Given the description of an element on the screen output the (x, y) to click on. 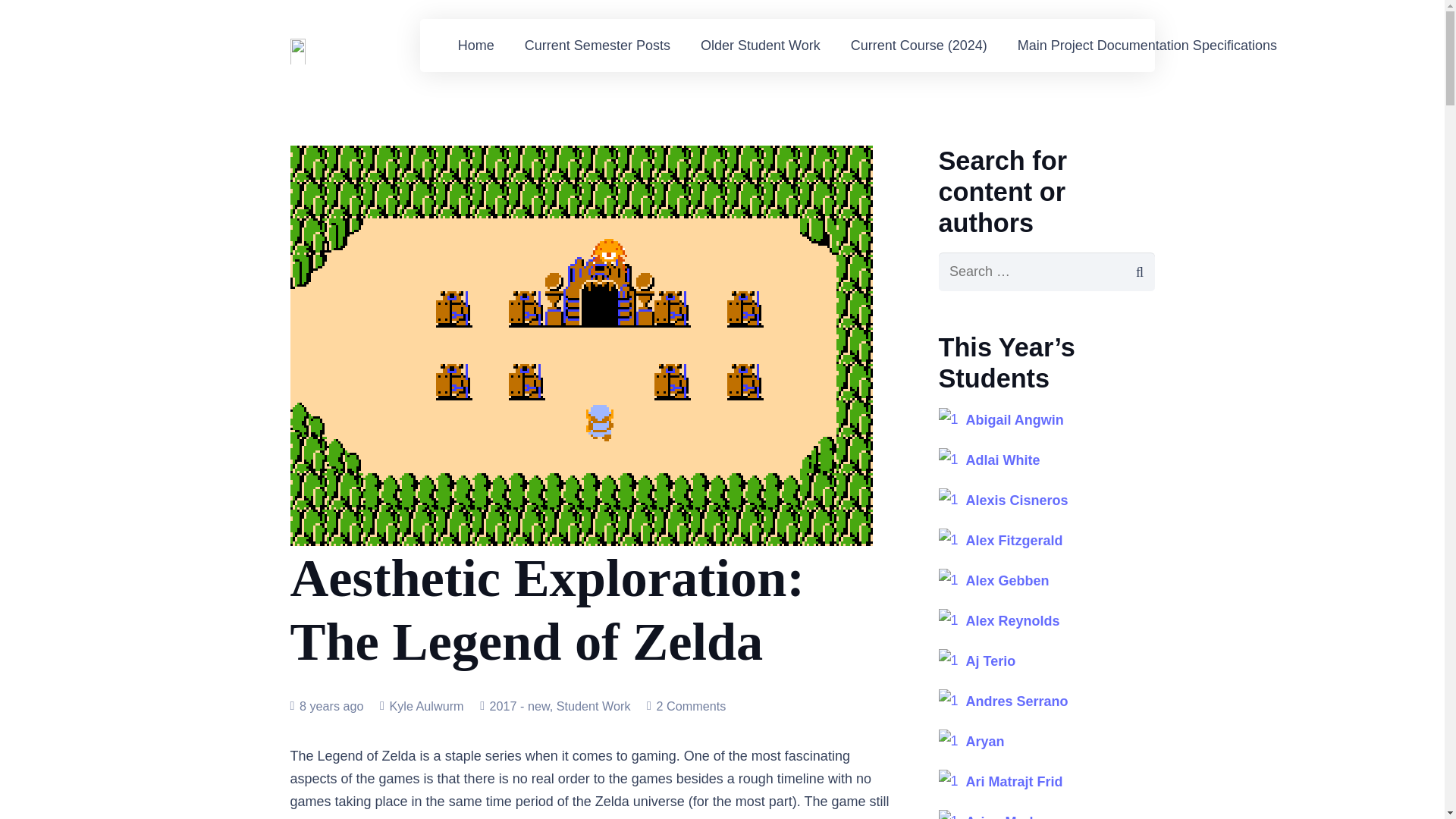
Home (475, 45)
Older Student Work (760, 45)
2 Comments (690, 705)
Current Semester Posts (597, 45)
